Given the description of an element on the screen output the (x, y) to click on. 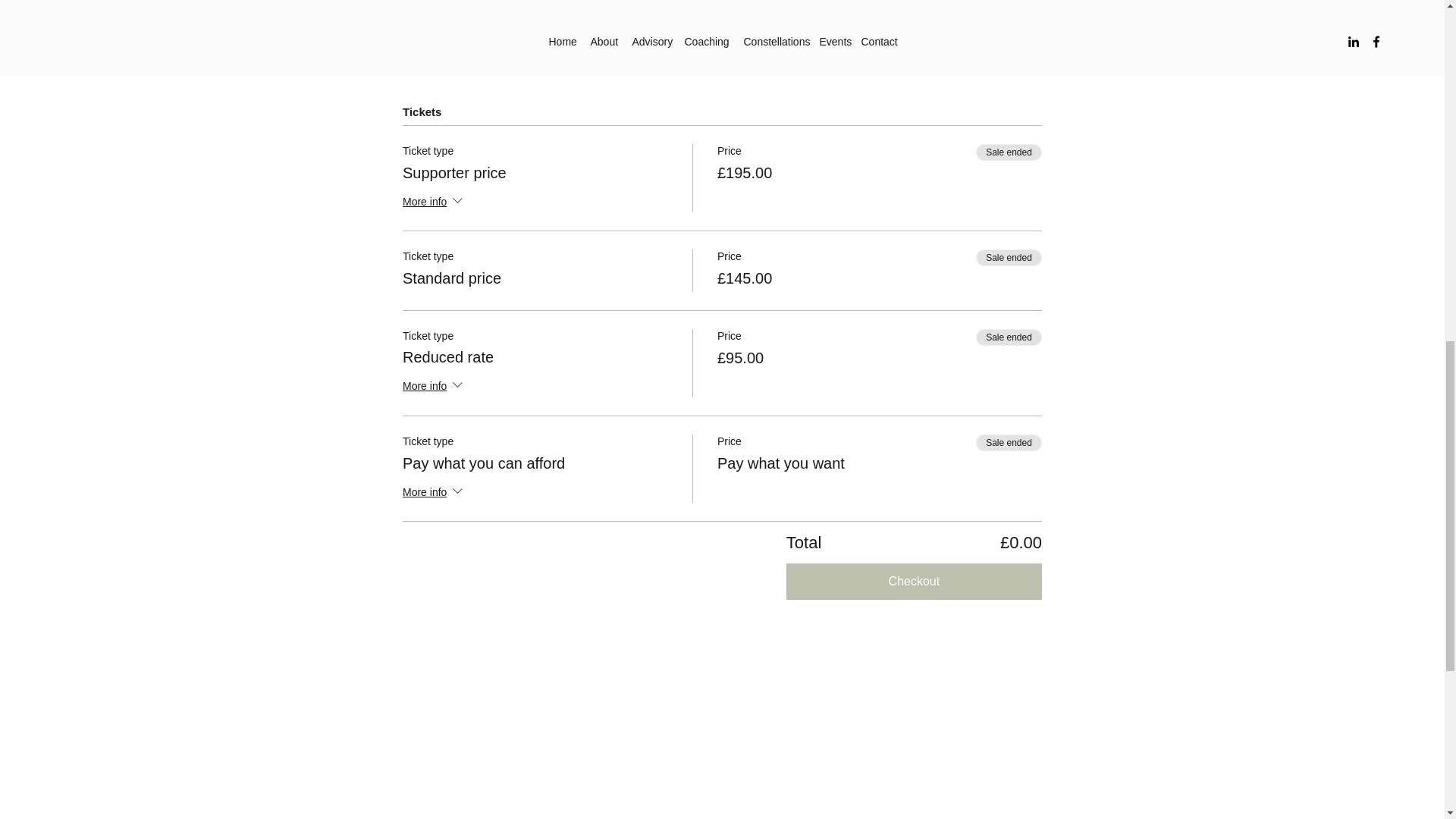
More info (434, 493)
More info (434, 202)
More info (434, 386)
Checkout (914, 581)
